Given the description of an element on the screen output the (x, y) to click on. 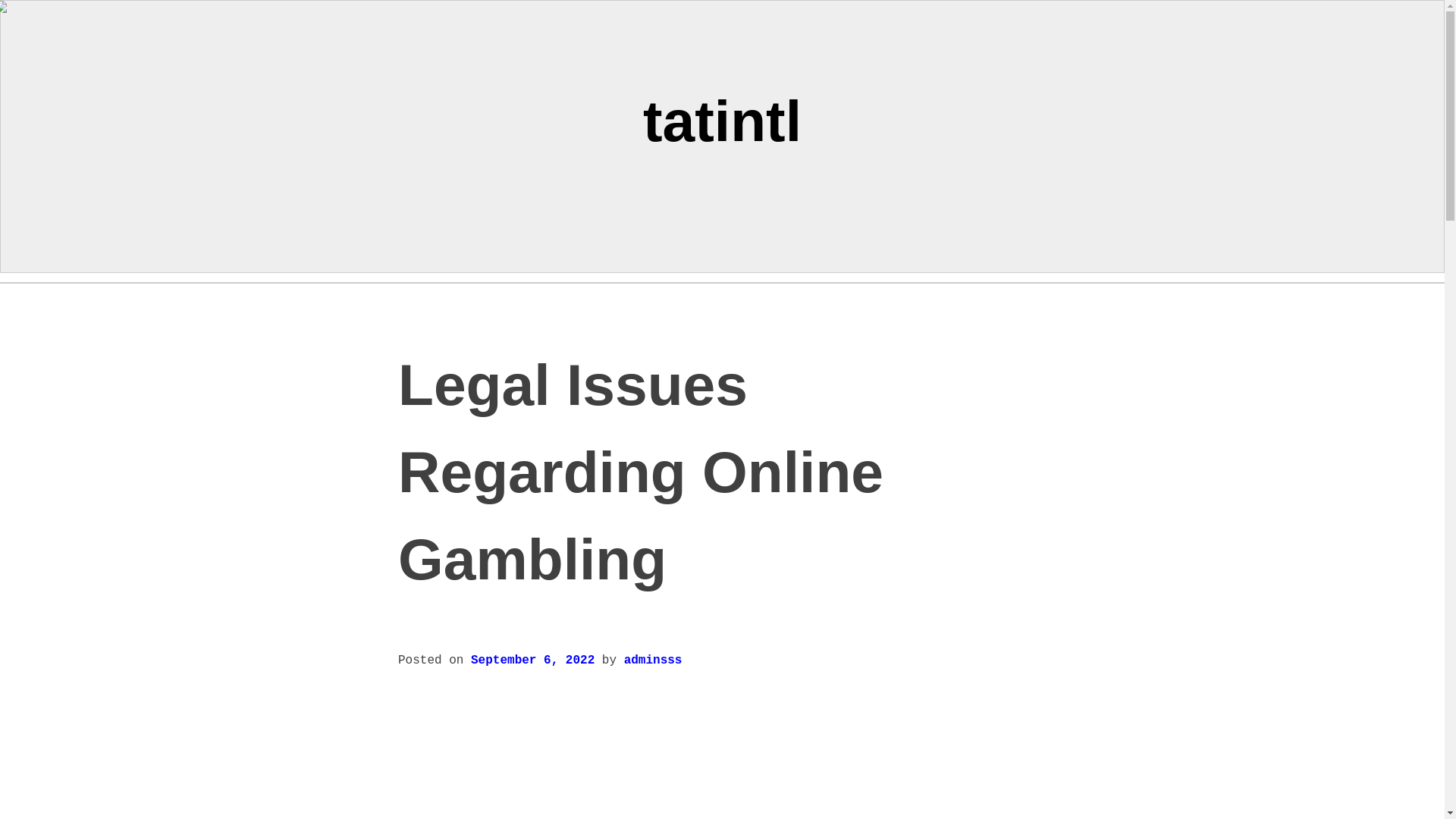
tatintl (722, 120)
September 6, 2022 (532, 660)
adminsss (653, 660)
